Given the description of an element on the screen output the (x, y) to click on. 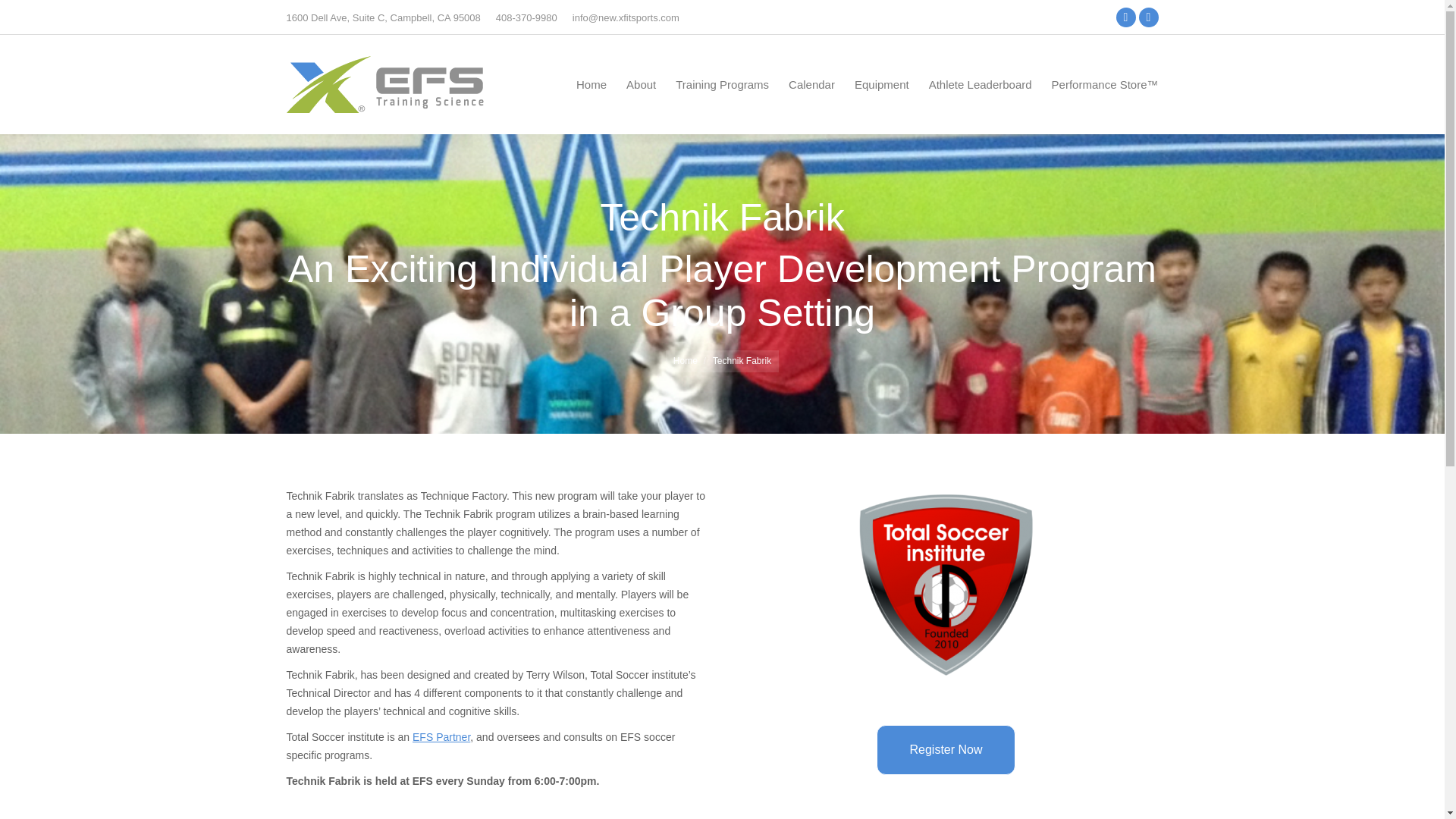
About (641, 84)
Training Programs (721, 84)
Facebook page opens in new window (1125, 17)
Facebook page opens in new window (1125, 17)
Equipment (881, 84)
1600 Dell Ave, Suite C, Campbell, CA 95008 (383, 17)
408-370-9980 (526, 17)
Home (684, 360)
YouTube page opens in new window (1148, 17)
Home (591, 84)
